Given the description of an element on the screen output the (x, y) to click on. 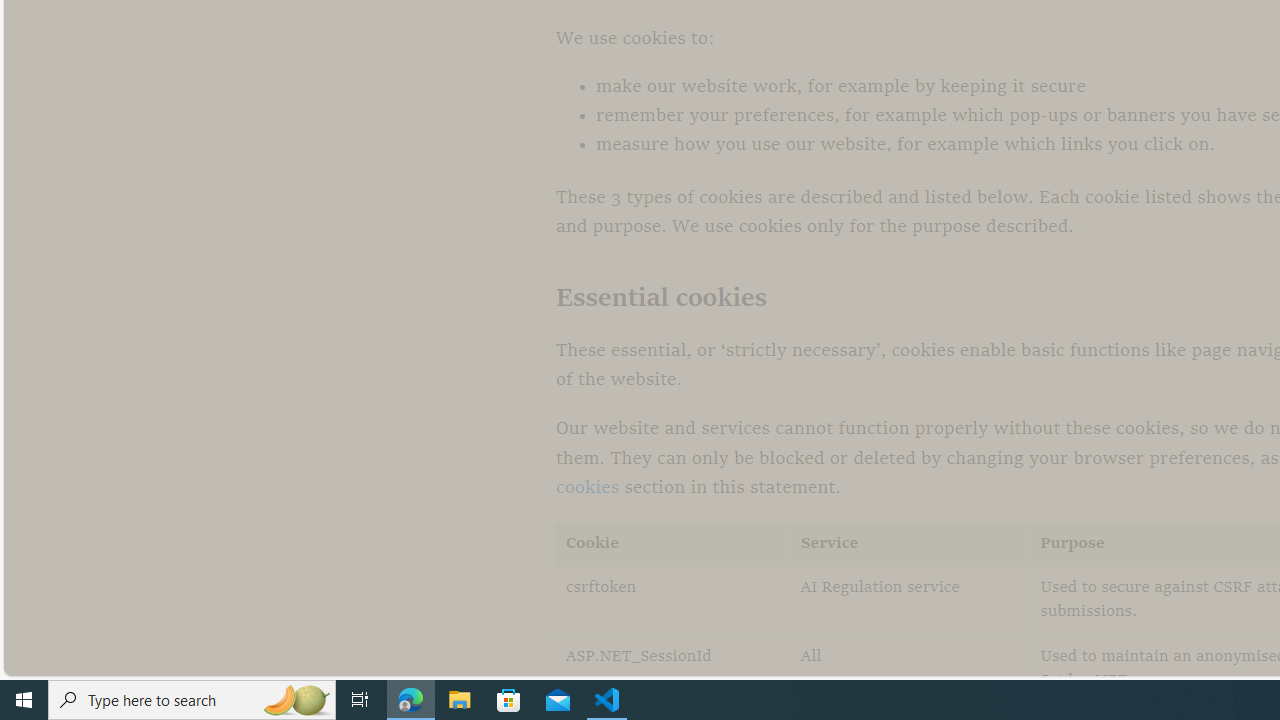
File Explorer (460, 699)
csrftoken (673, 600)
All (909, 669)
Cookie (673, 544)
Start (24, 699)
Type here to search (191, 699)
Service (909, 544)
Visual Studio Code - 1 running window (607, 699)
ASP.NET_SessionId (673, 669)
Microsoft Store (509, 699)
Search highlights icon opens search home window (295, 699)
Microsoft Edge - 1 running window (411, 699)
AI Regulation service (909, 600)
Task View (359, 699)
